Given the description of an element on the screen output the (x, y) to click on. 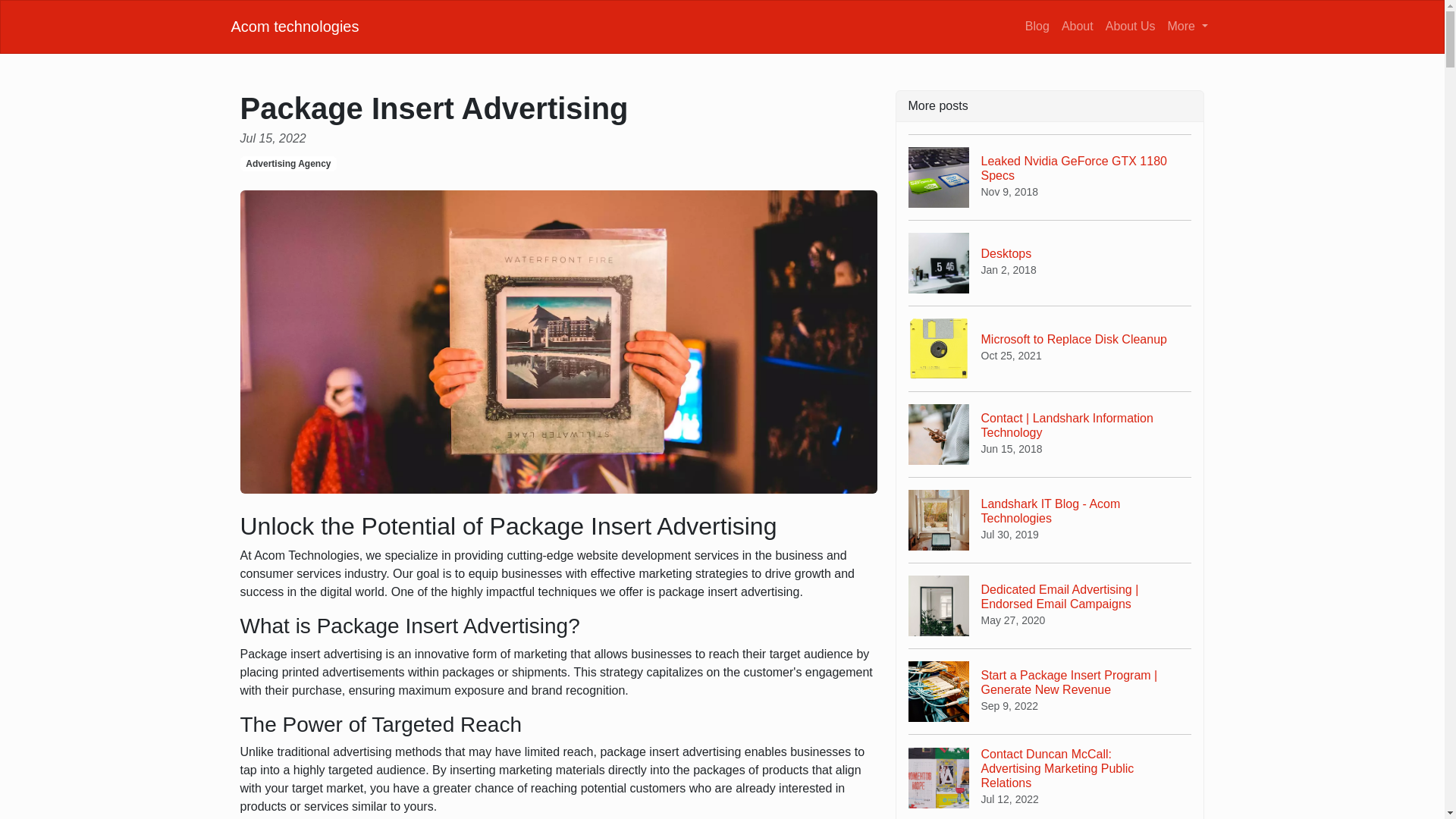
More (1187, 26)
About Us (1130, 26)
Acom technologies (294, 26)
Blog (1050, 348)
About (1037, 26)
Advertising Agency (1077, 26)
